Given the description of an element on the screen output the (x, y) to click on. 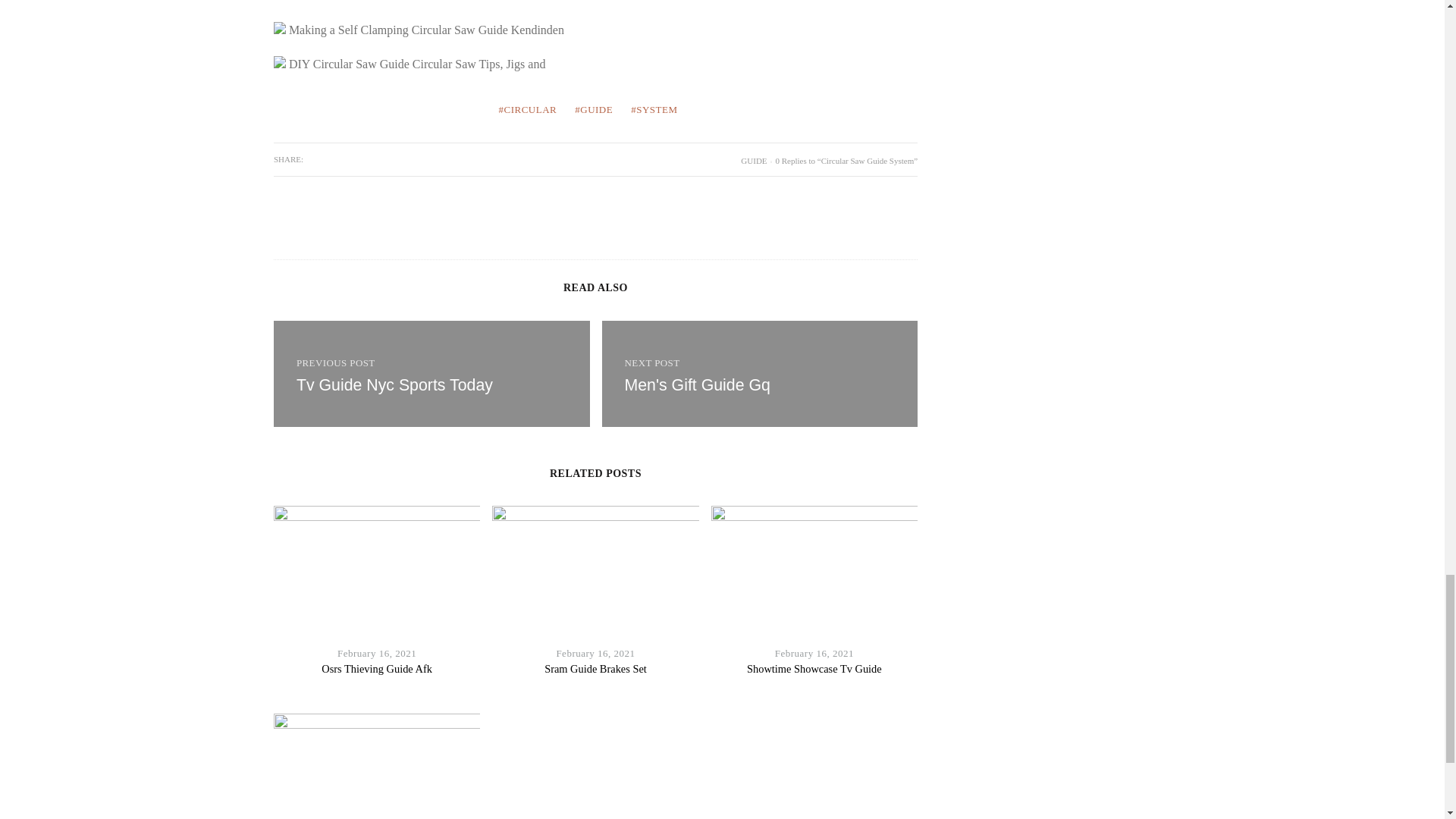
Tv Guide Nyc Sports Today (431, 373)
Showtime Showcase Tv Guide (814, 668)
Tv Guide Nyc Sports Today (395, 384)
Circular Saw Guide System (697, 384)
Men's Gift Guide Gq (760, 373)
Circular Saw Guide System (431, 373)
Circular Saw Guide System (395, 384)
Sram Guide Brakes Set (595, 668)
Men's Gift Guide Gq (697, 384)
GUIDE (754, 160)
View all posts under this category. (754, 160)
Circular Saw Guide System (760, 373)
Osrs Thieving Guide Afk (376, 668)
